Given the description of an element on the screen output the (x, y) to click on. 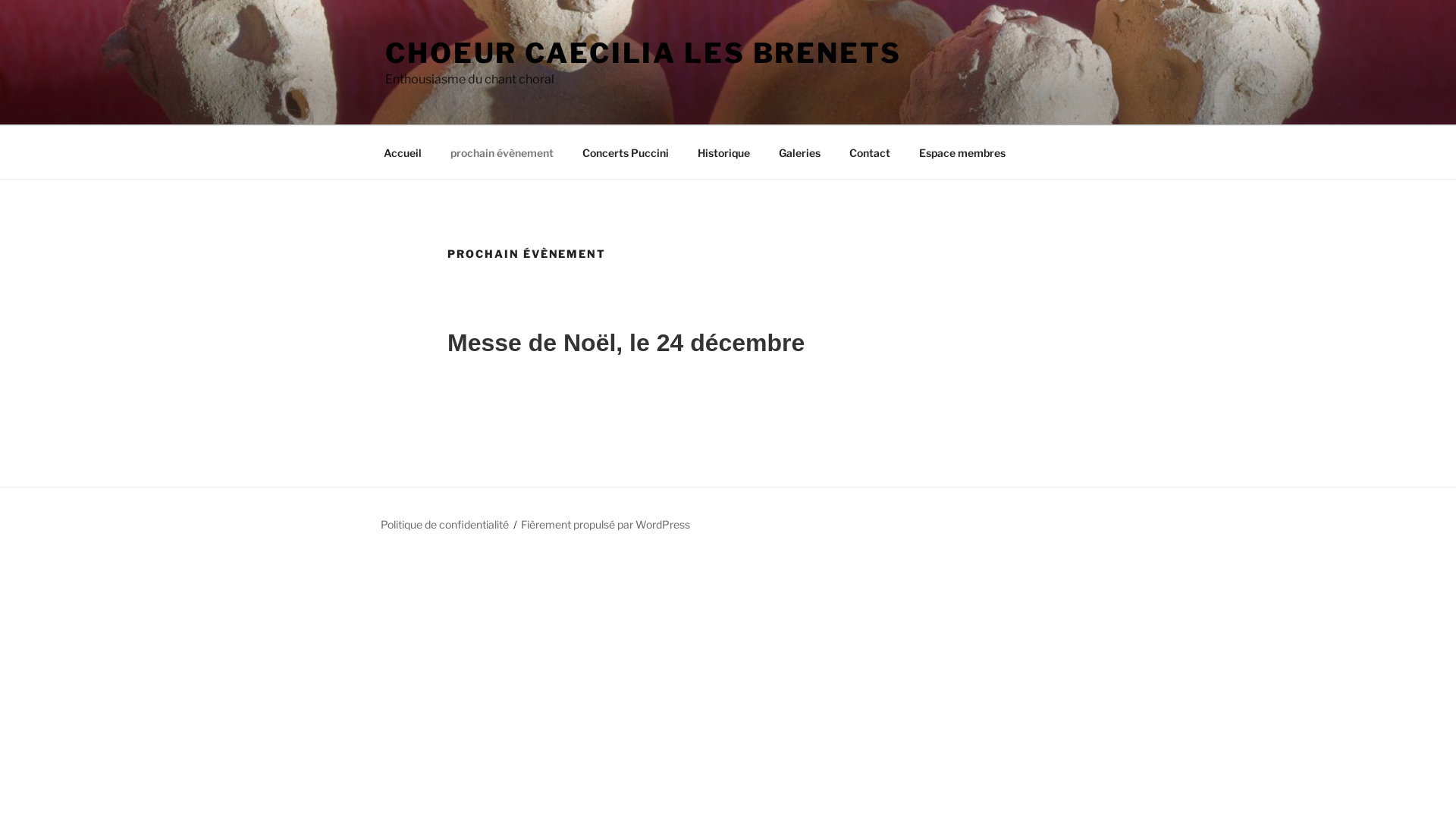
Espace membres Element type: text (961, 151)
Concerts Puccini Element type: text (624, 151)
Accueil Element type: text (402, 151)
CHOEUR CAECILIA LES BRENETS Element type: text (643, 52)
Contact Element type: text (869, 151)
Historique Element type: text (723, 151)
Galeries Element type: text (799, 151)
